Given the description of an element on the screen output the (x, y) to click on. 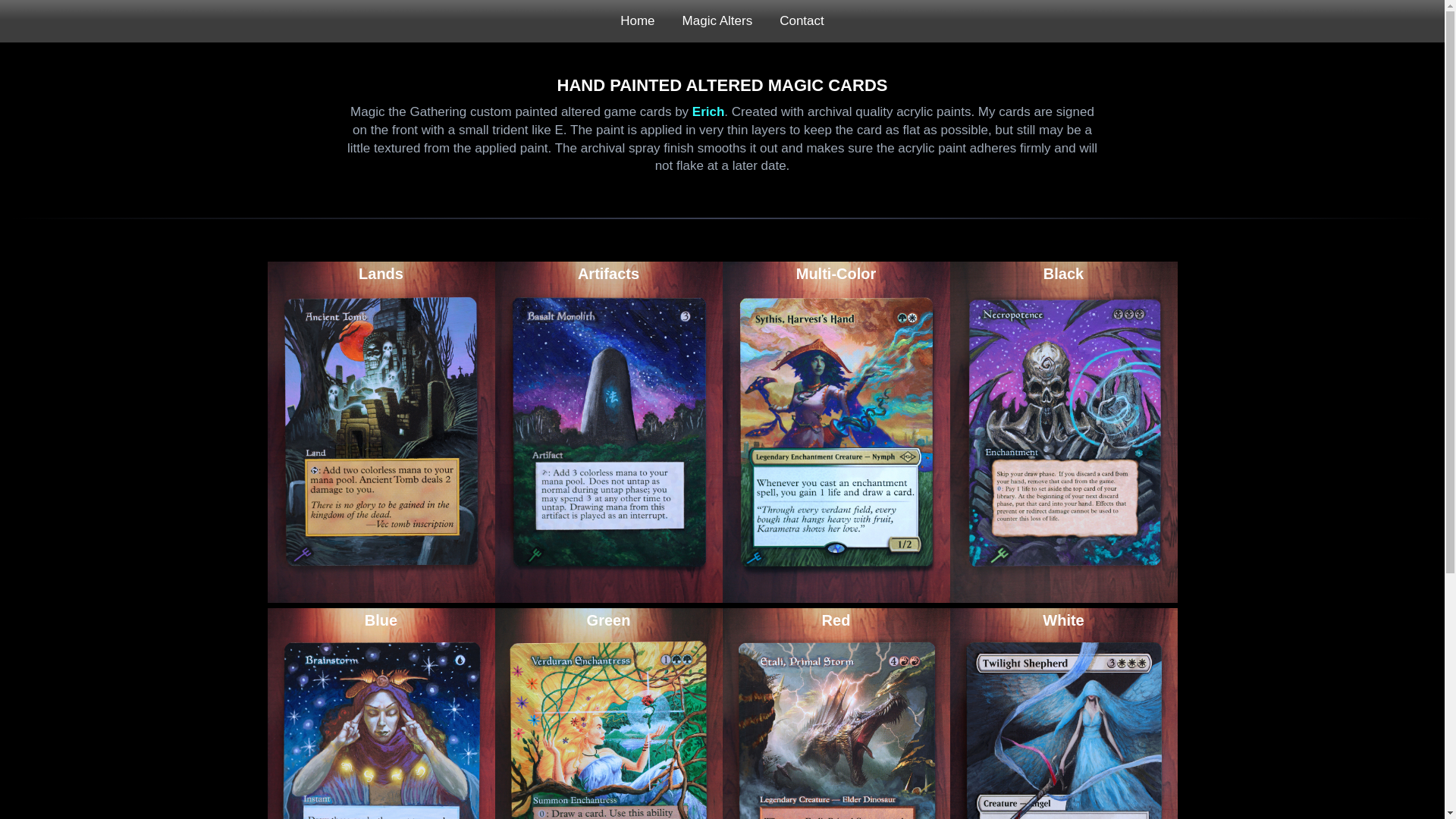
Contact (801, 21)
White (1062, 713)
Blue (380, 713)
Home (637, 21)
Magic Alters (717, 21)
Red (835, 713)
Erich (709, 111)
Green (608, 713)
